Given the description of an element on the screen output the (x, y) to click on. 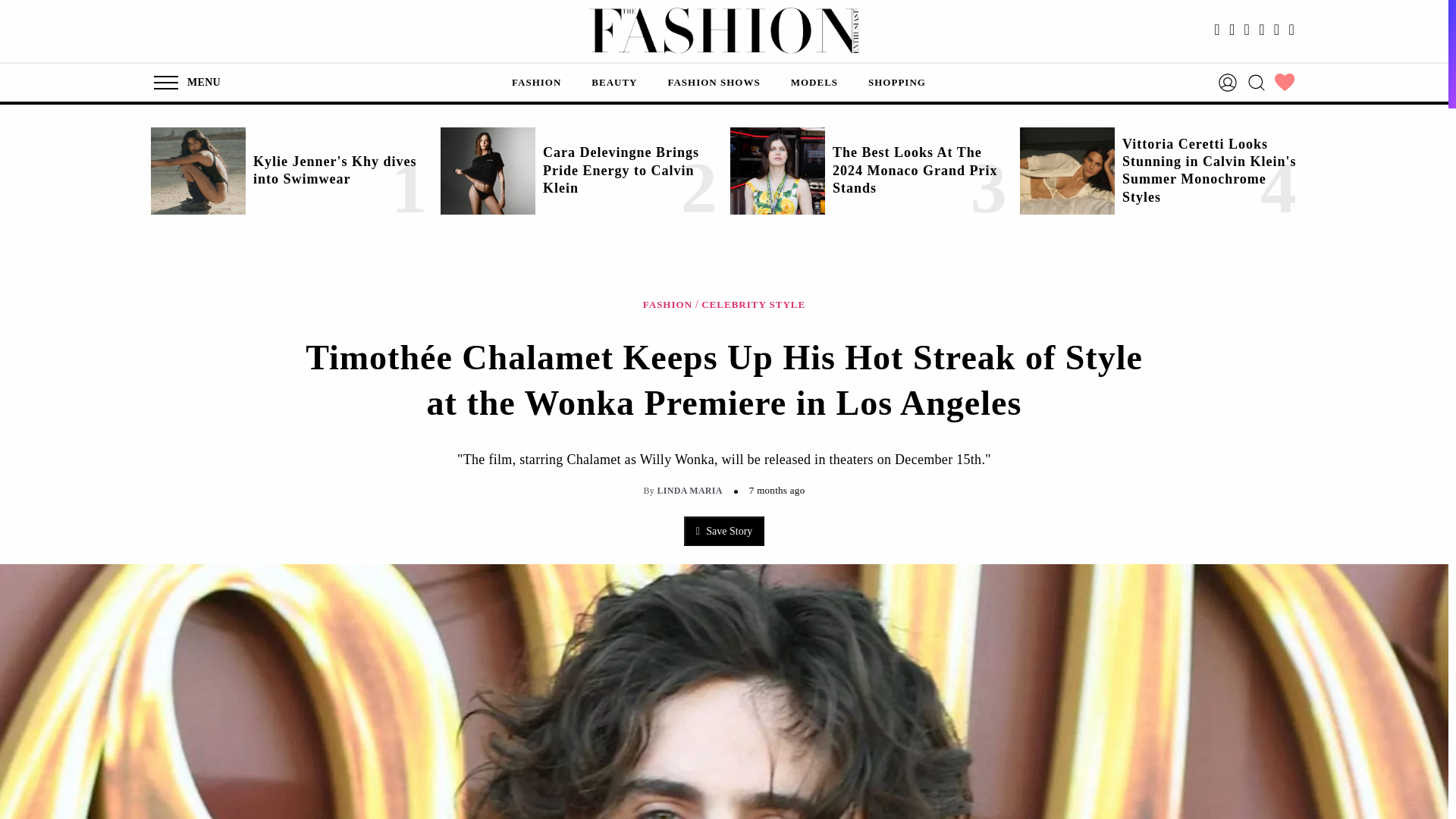
Instagram (1231, 30)
X (1247, 30)
Facebook (1217, 30)
Linkedin (1262, 30)
Pinterest (1276, 30)
Flipboard (1291, 30)
